Given the description of an element on the screen output the (x, y) to click on. 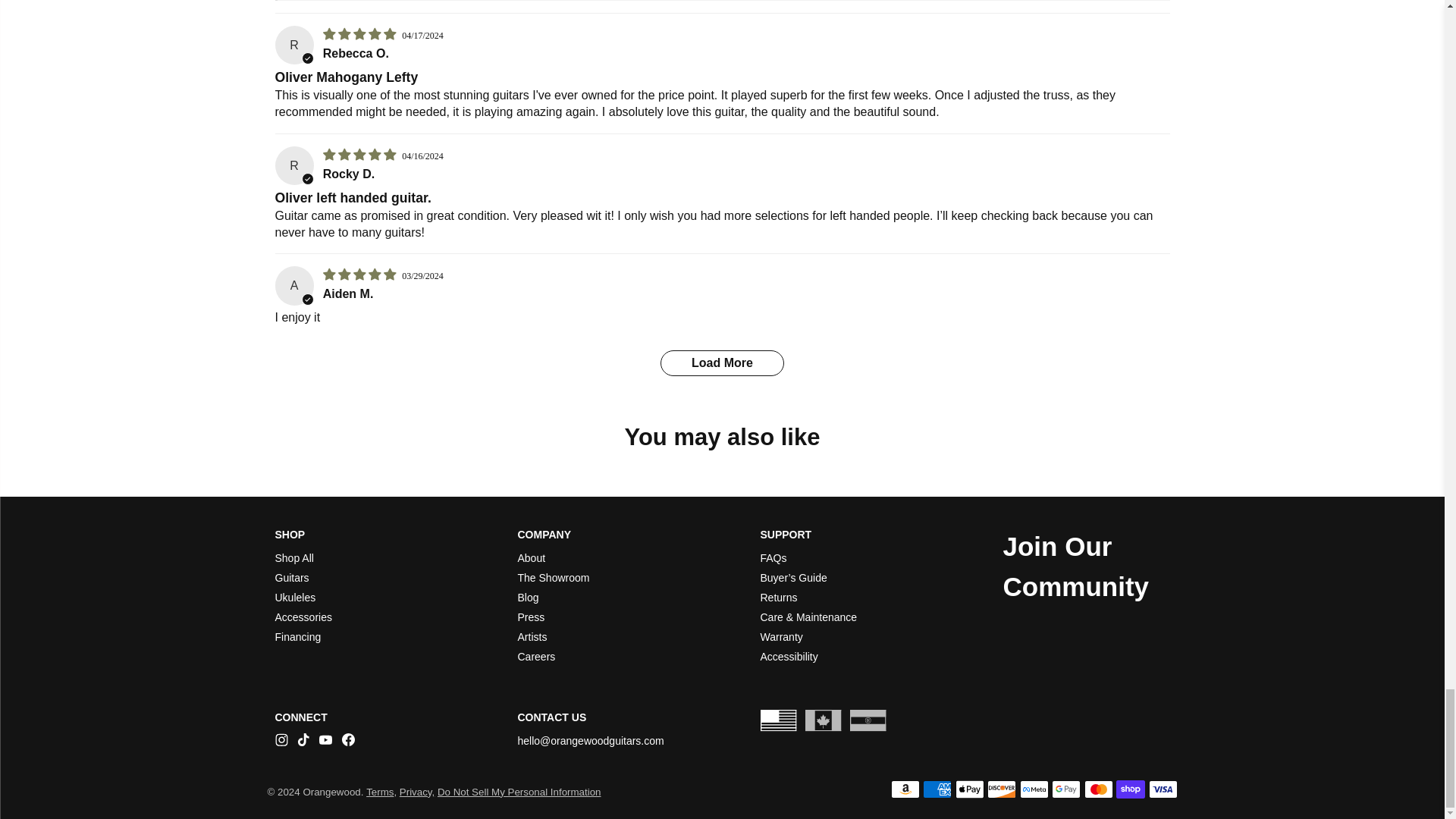
American Express (937, 789)
Discover (1001, 789)
Shop Pay (1130, 789)
Apple Pay (969, 789)
Amazon (905, 789)
Mastercard (1098, 789)
Meta Pay (1034, 789)
Privacy Policy (415, 791)
Visa (1162, 789)
Google Pay (1065, 789)
